Given the description of an element on the screen output the (x, y) to click on. 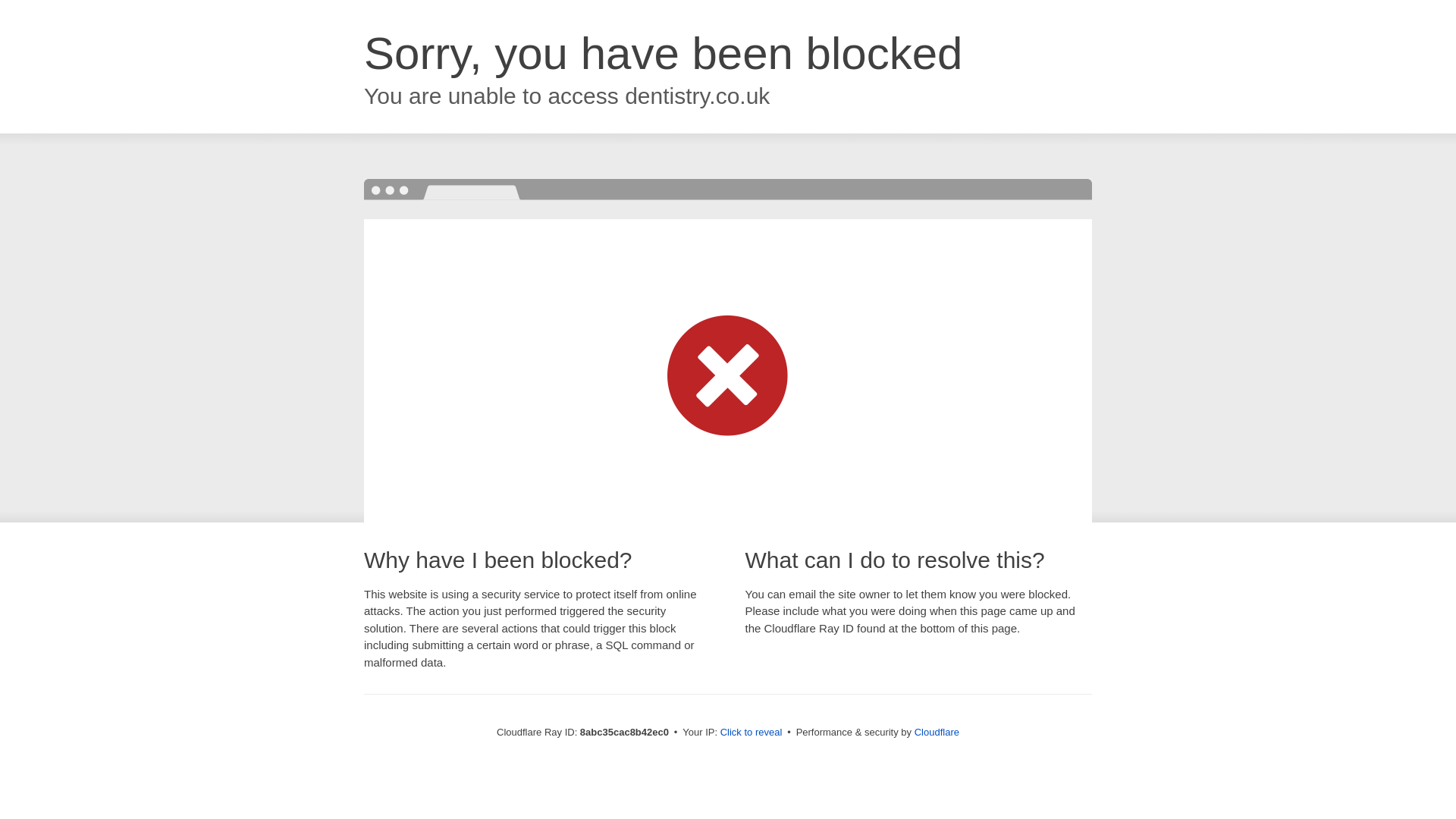
Cloudflare (936, 731)
Click to reveal (751, 732)
